Given the description of an element on the screen output the (x, y) to click on. 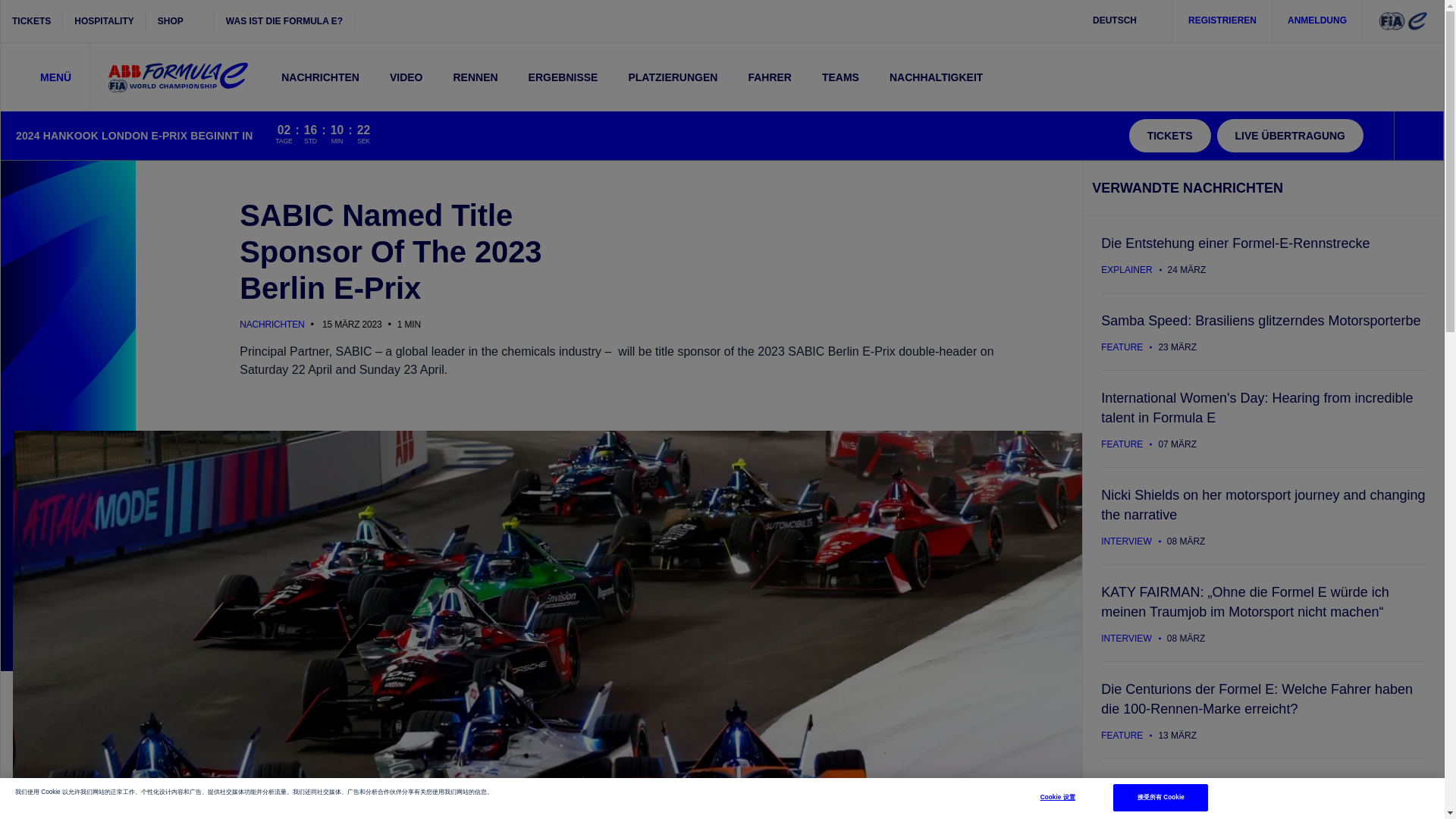
label.menu.home.link (177, 77)
TICKETS (31, 21)
HOSPITALITY (103, 21)
PLATZIERUNGEN (672, 76)
ANMELDUNG (1317, 21)
Samba Speed: Brasiliens glitzerndes Motorsporterbe (1262, 331)
TEAMS (840, 76)
VIDEO (406, 76)
NACHHALTIGKEIT (936, 76)
RENNEN (323, 135)
SHOP (475, 76)
WAS IST DIE FORMULA E? (180, 21)
